Given the description of an element on the screen output the (x, y) to click on. 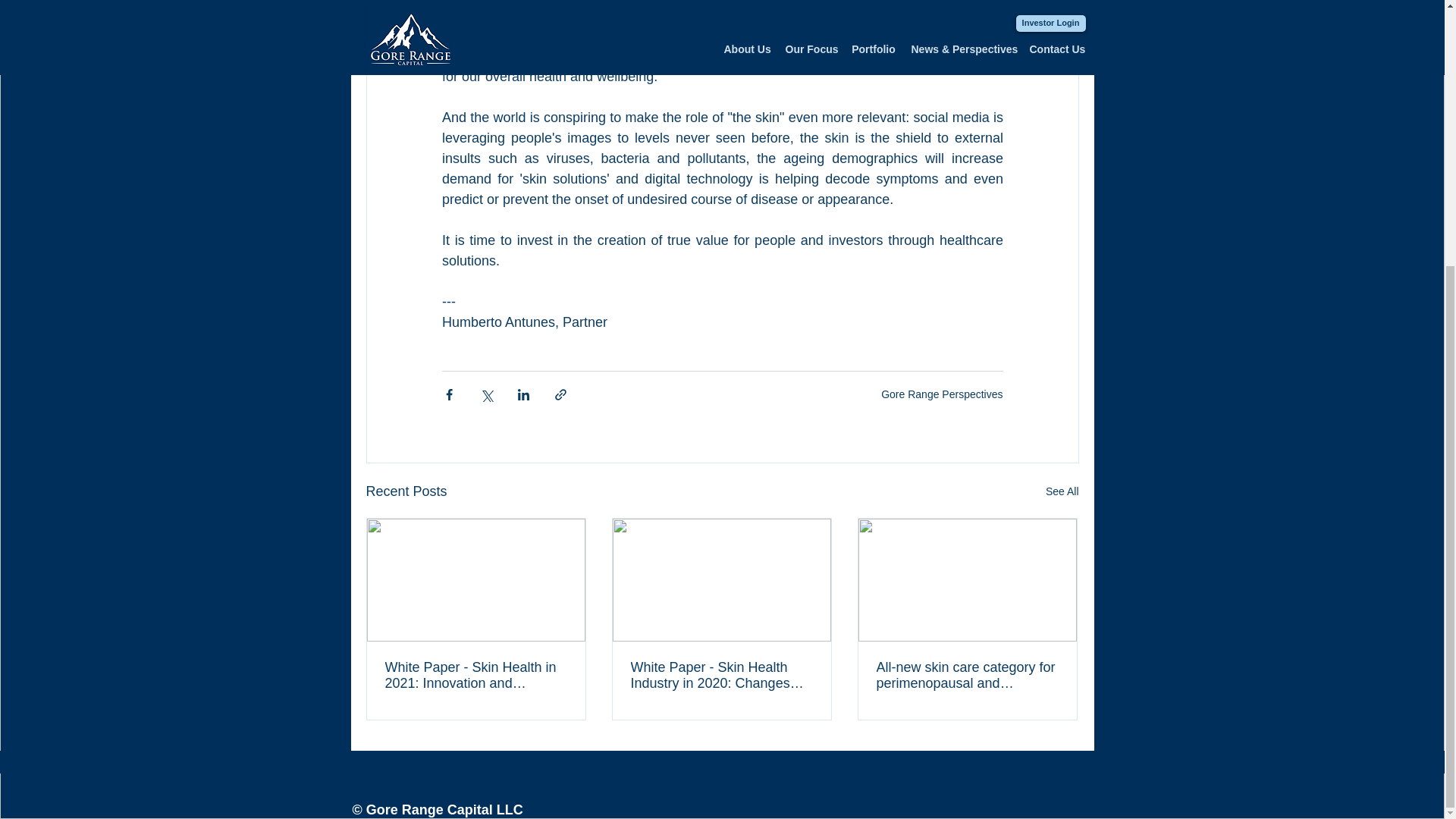
Gore Range Perspectives (941, 394)
See All (1061, 491)
